Given the description of an element on the screen output the (x, y) to click on. 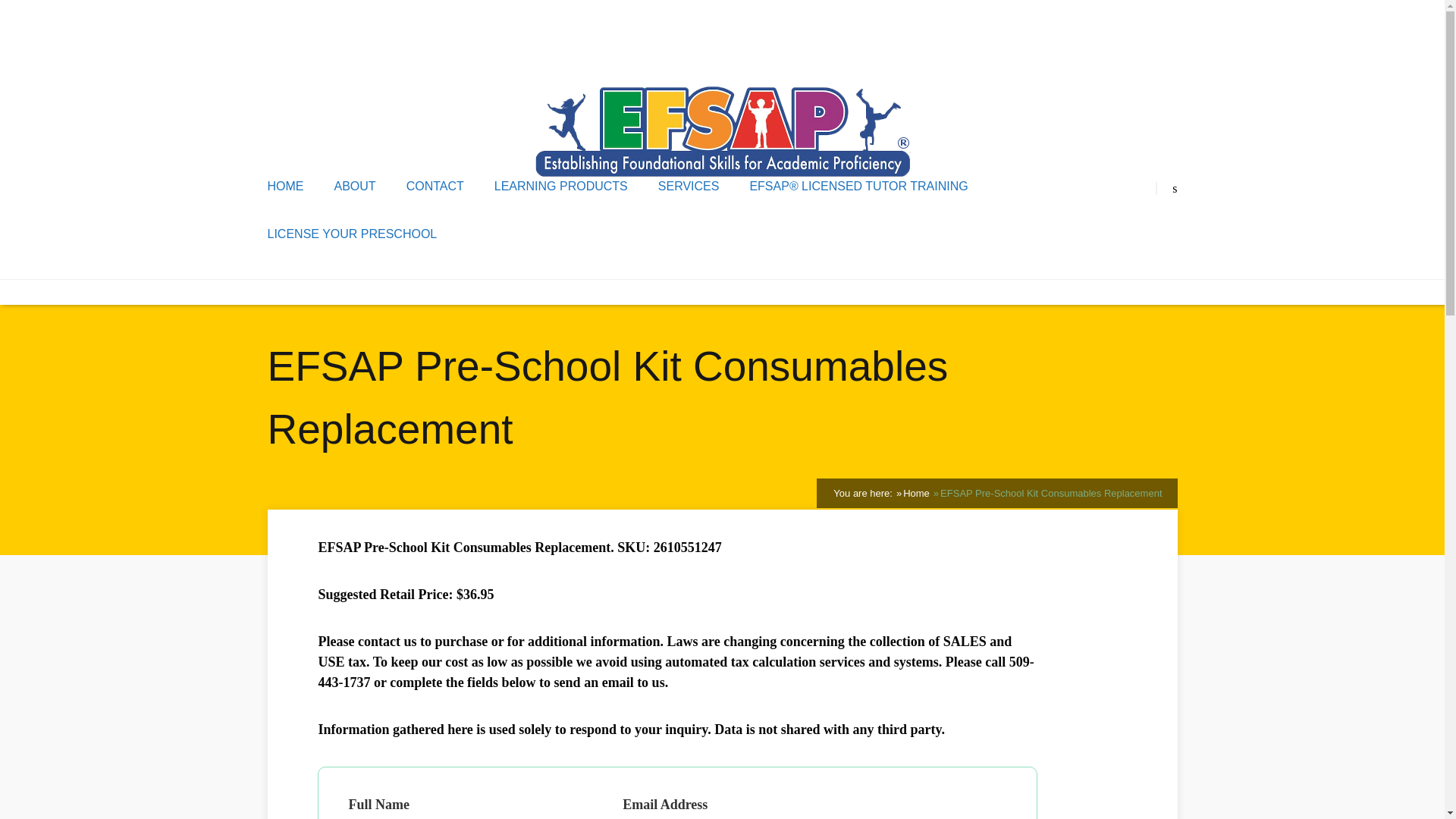
LICENSE YOUR PRESCHOOL (351, 233)
SERVICES (688, 186)
HOME (284, 186)
ABOUT (354, 186)
Home (916, 492)
LEARNING PRODUCTS (561, 186)
CONTACT (435, 186)
